Given the description of an element on the screen output the (x, y) to click on. 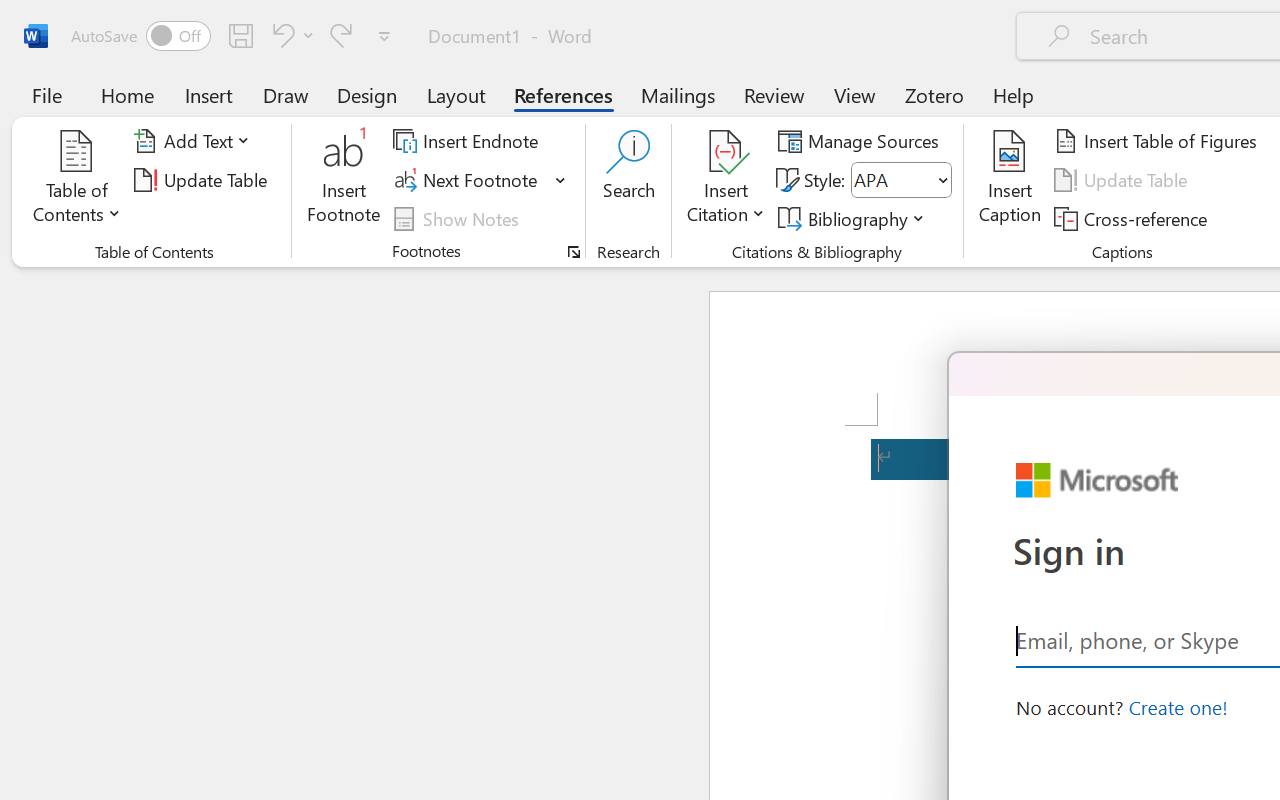
Search (628, 179)
Add Text (195, 141)
Insert Citation (726, 179)
Update Table... (204, 179)
Undo Apply Quick Style Set (280, 35)
